Given the description of an element on the screen output the (x, y) to click on. 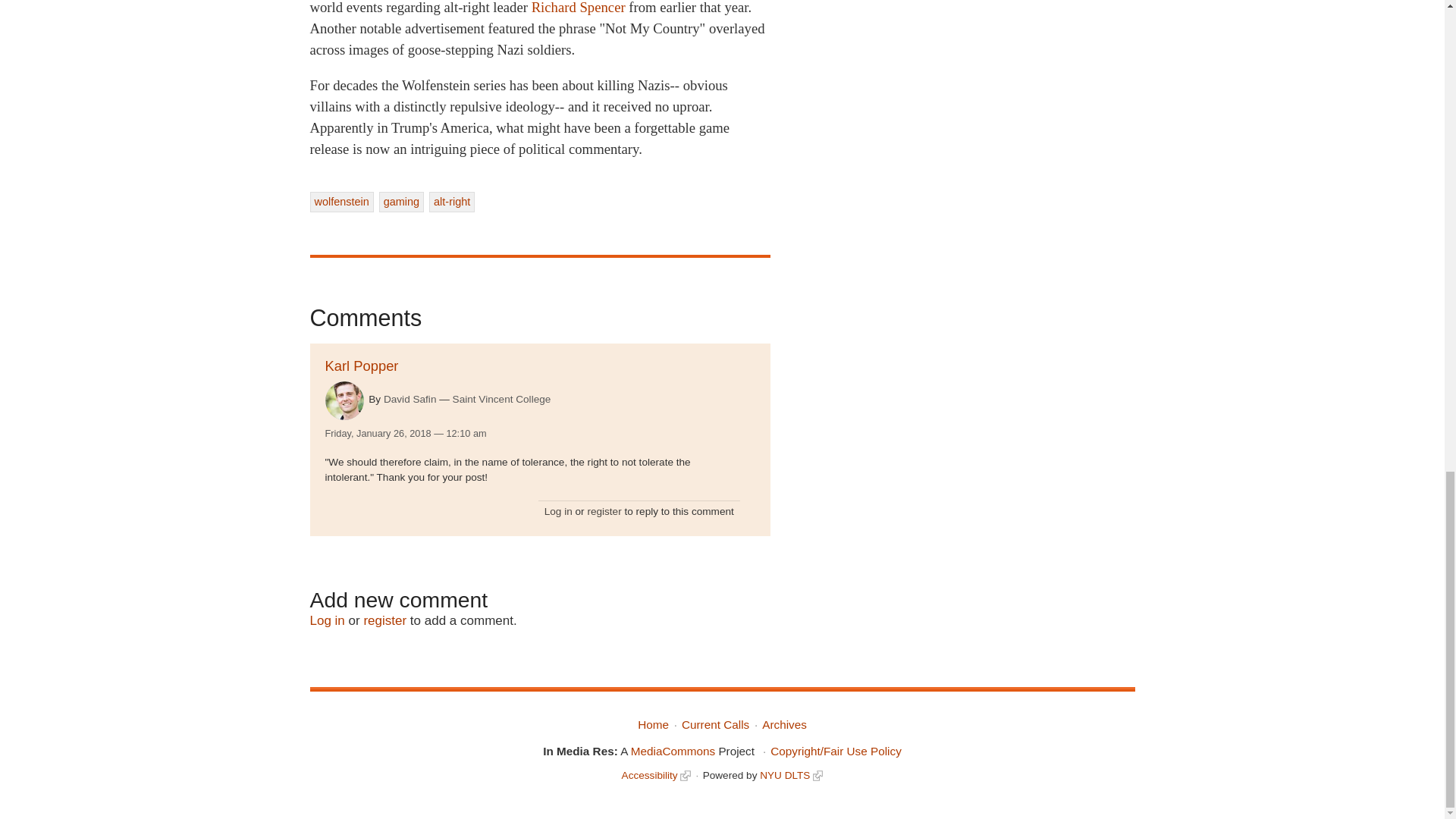
Richard Spencer (578, 7)
Karl Popper (360, 365)
David Safin (410, 398)
User profile: David Safin (410, 398)
Saint Vincent College (501, 399)
gaming (400, 201)
Log in (325, 620)
wolfenstein (340, 201)
View user profile. (343, 400)
Saint Vincent College (501, 399)
